Given the description of an element on the screen output the (x, y) to click on. 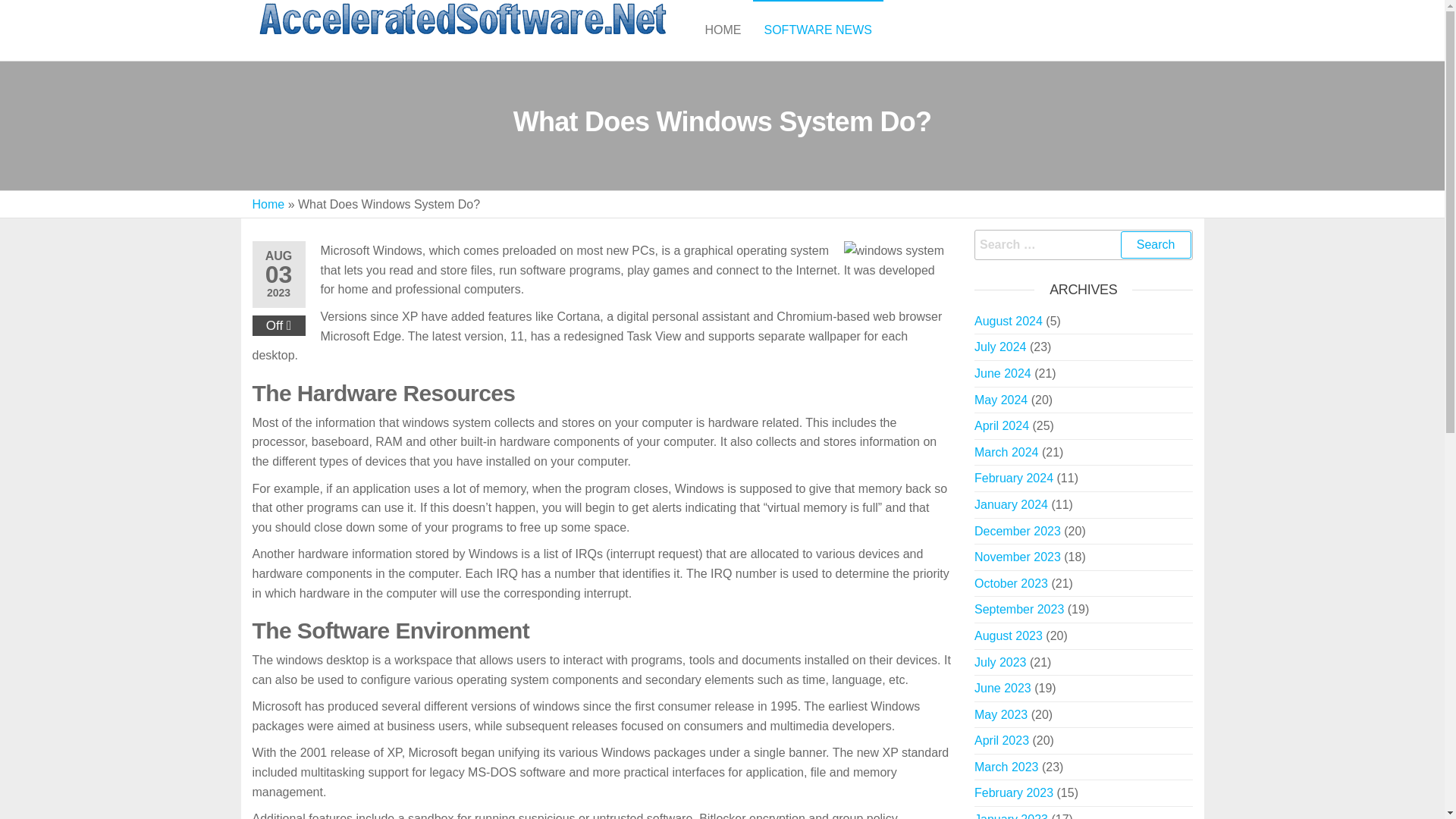
Search (1156, 244)
SOFTWARE NEWS (817, 30)
February 2023 (1013, 792)
November 2023 (1017, 556)
August 2023 (1008, 635)
Home (267, 204)
May 2023 (1000, 714)
October 2023 (1011, 583)
Software News (817, 30)
May 2024 (1000, 399)
July 2024 (1000, 346)
August 2024 (1008, 320)
March 2024 (1006, 451)
March 2023 (1006, 766)
December 2023 (1017, 530)
